Given the description of an element on the screen output the (x, y) to click on. 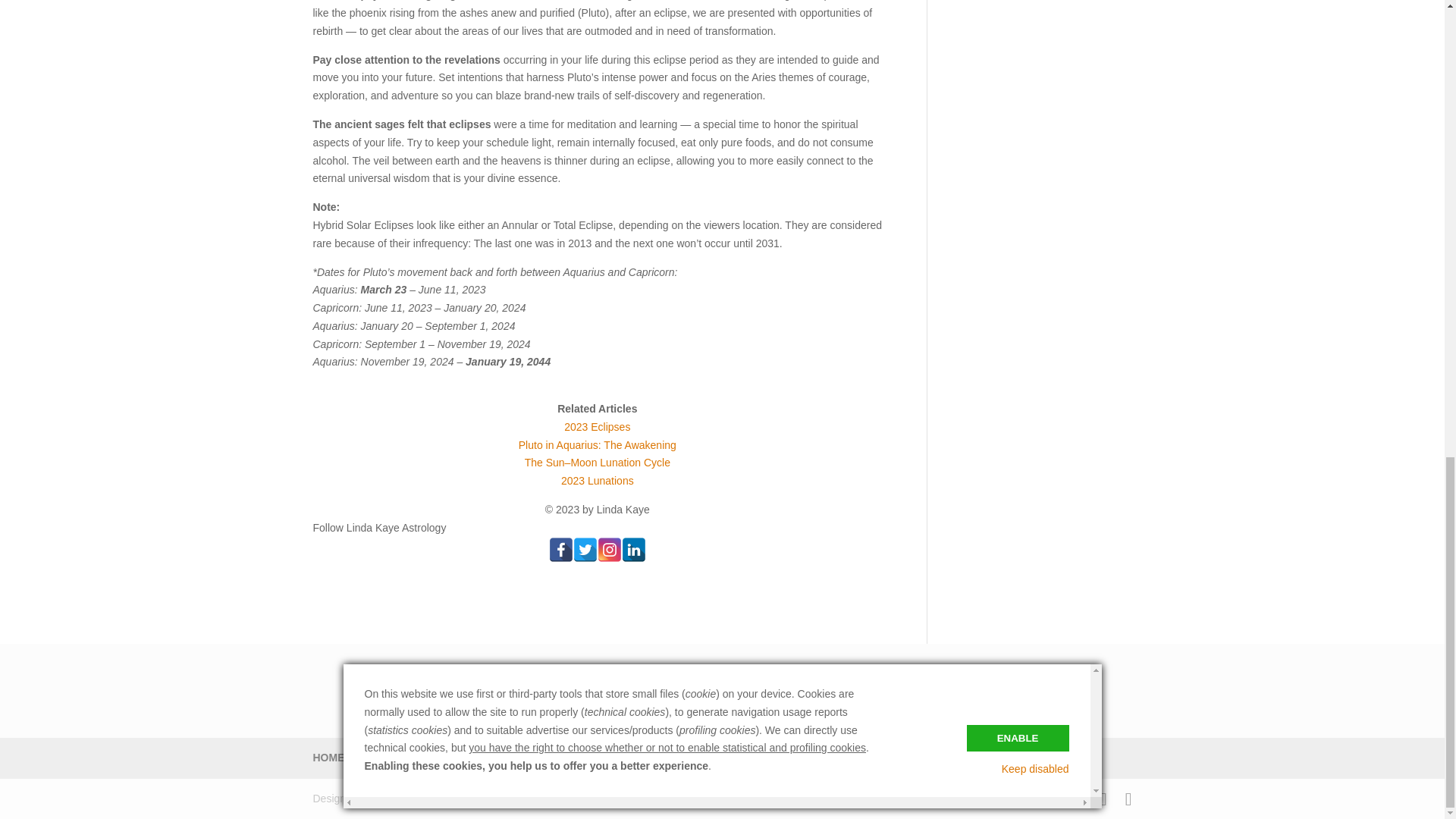
Facebook (560, 549)
Instagram (608, 549)
Premium WordPress Themes (414, 798)
Twitter (584, 549)
LinkedIn (633, 549)
